Given the description of an element on the screen output the (x, y) to click on. 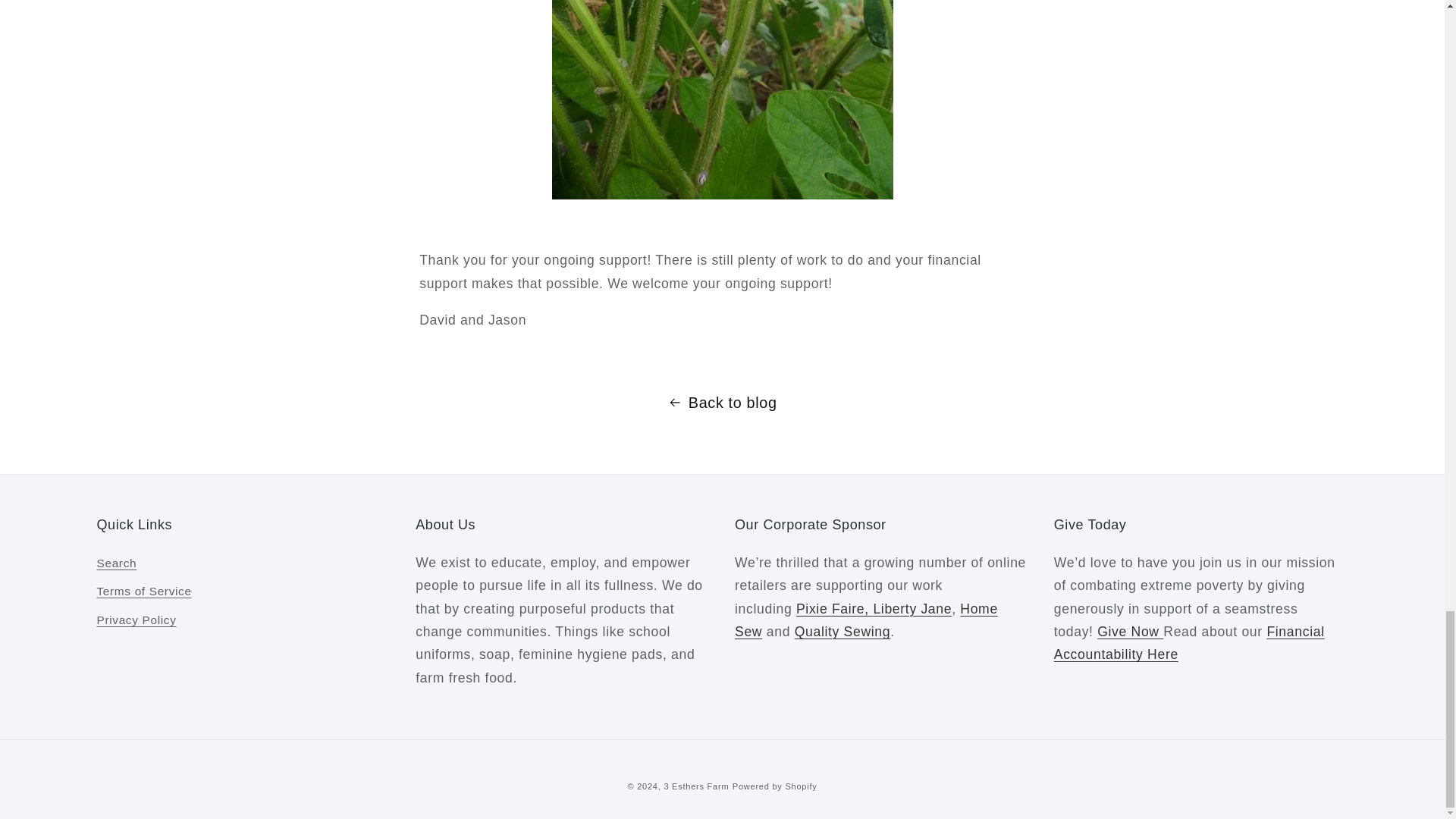
Search (116, 565)
Terms of Service (144, 592)
